Given the description of an element on the screen output the (x, y) to click on. 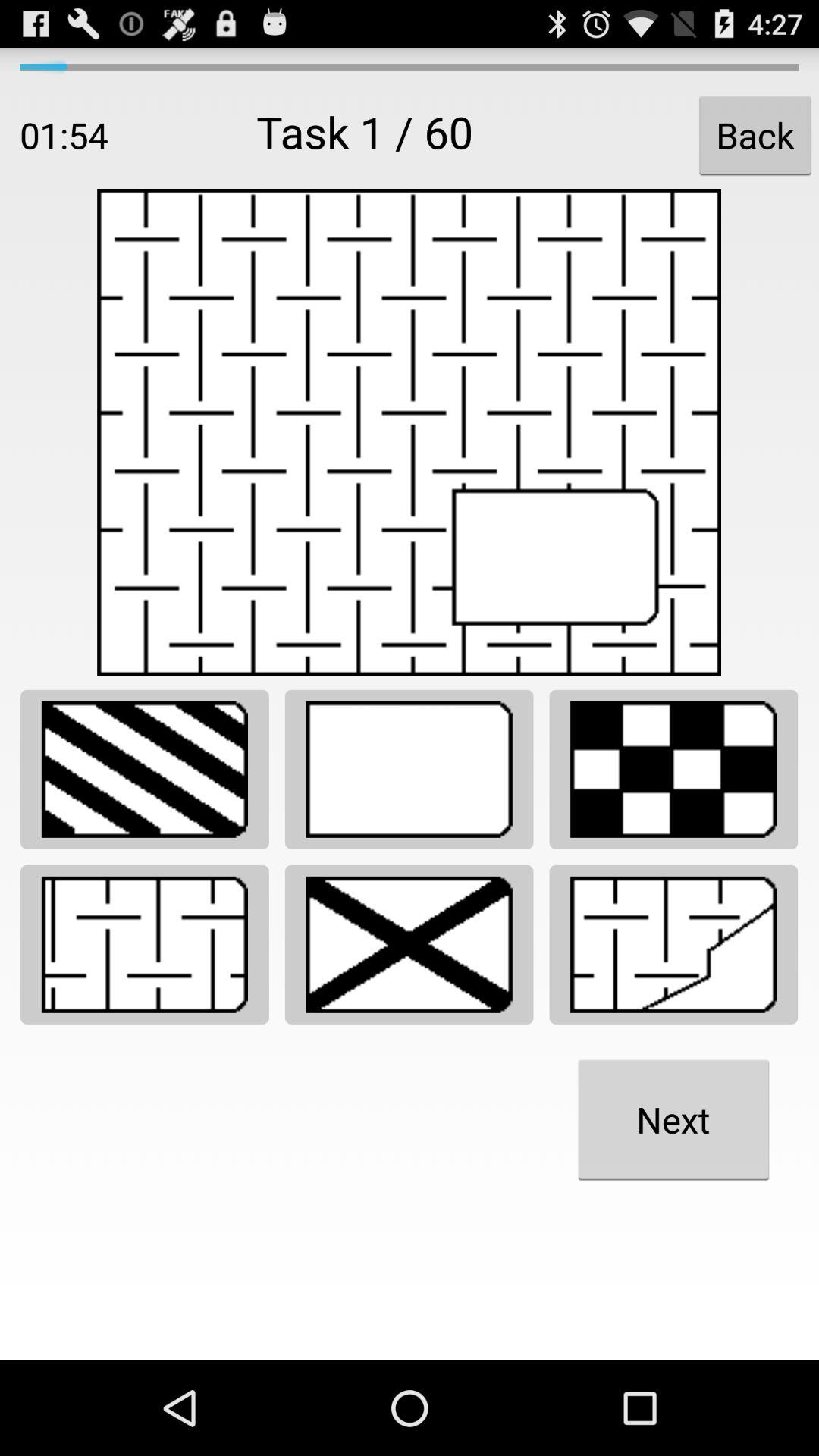
open the back icon (755, 135)
